Given the description of an element on the screen output the (x, y) to click on. 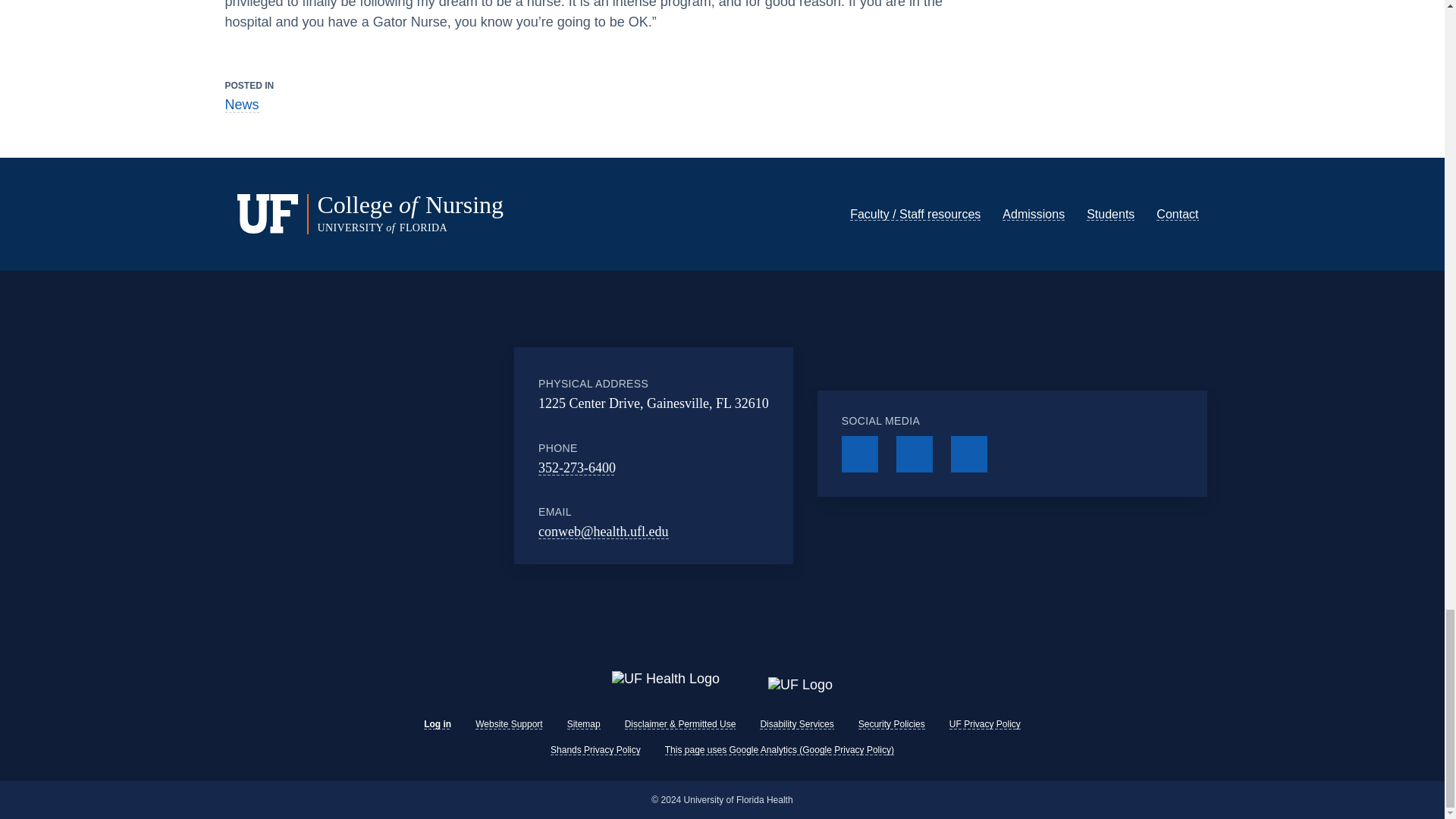
Google Maps Embed (423, 431)
Contact (1177, 189)
Log in (437, 724)
Sitemap (583, 724)
Website Support (509, 724)
Admissions (1033, 189)
Disability Services (796, 724)
Students (1110, 189)
Shands Privacy Policy (595, 749)
UF Privacy Policy (984, 724)
352-273-6400 (576, 443)
Security Policies (891, 724)
